Given the description of an element on the screen output the (x, y) to click on. 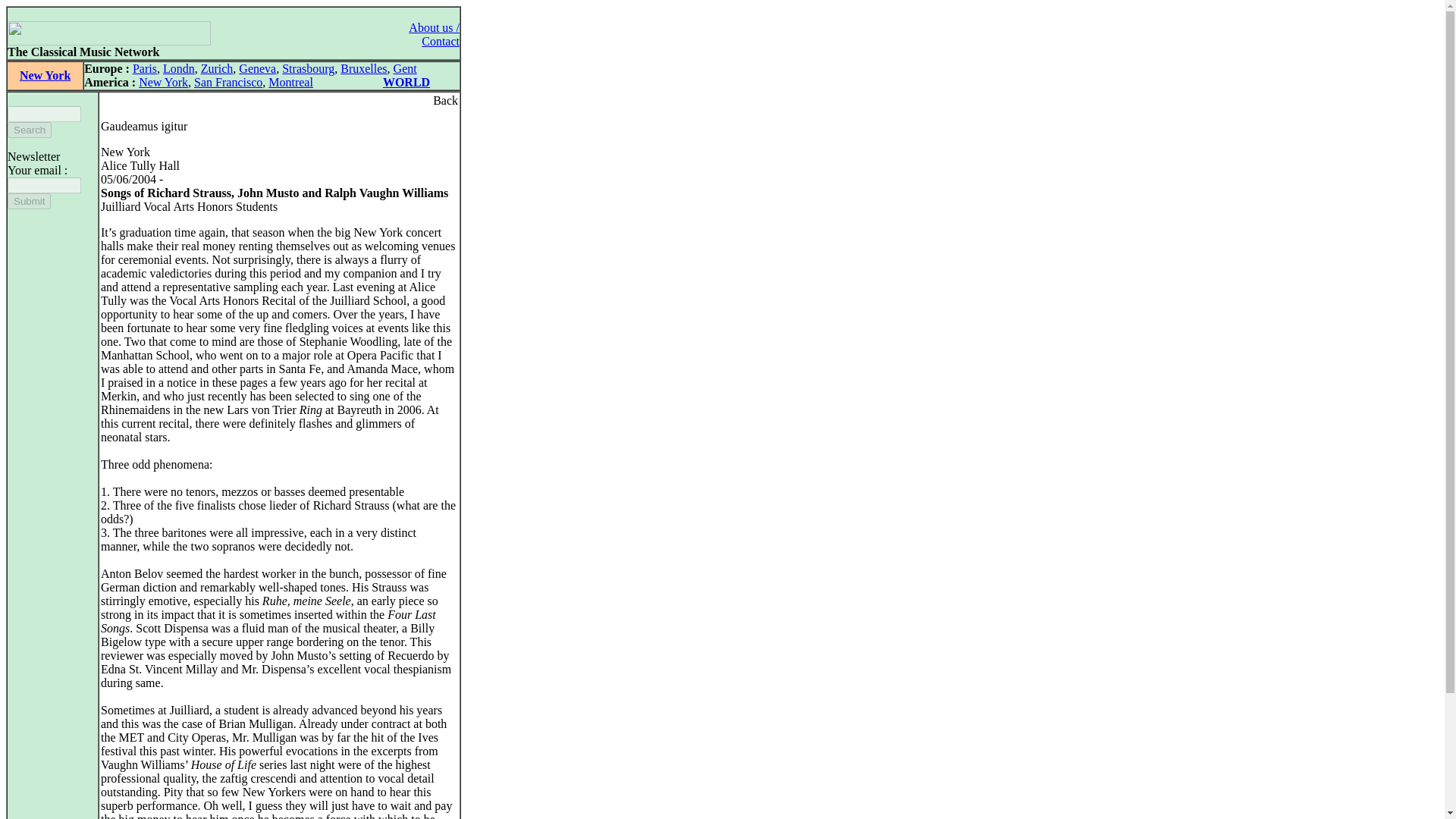
Bruxelles (363, 68)
WORLD (405, 82)
Strasbourg (308, 68)
Londn (179, 68)
Montreal (290, 82)
Search (28, 130)
New York (162, 82)
Zurich (216, 68)
New York (44, 74)
Geneva (257, 68)
Submit (28, 201)
Back (445, 100)
Gent (404, 68)
Search (28, 130)
Submit (28, 201)
